Given the description of an element on the screen output the (x, y) to click on. 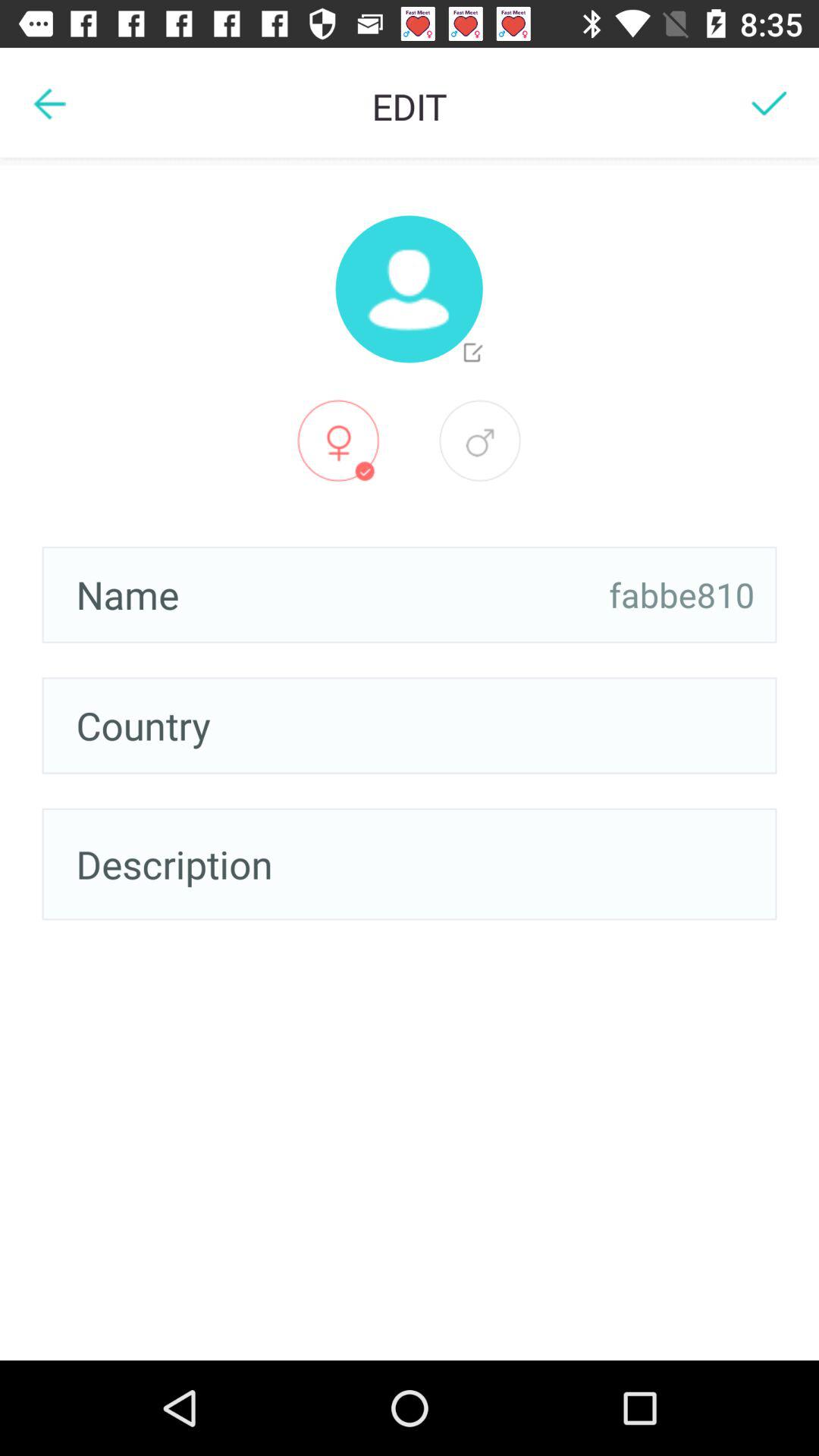
turn on the item on the right (681, 594)
